Given the description of an element on the screen output the (x, y) to click on. 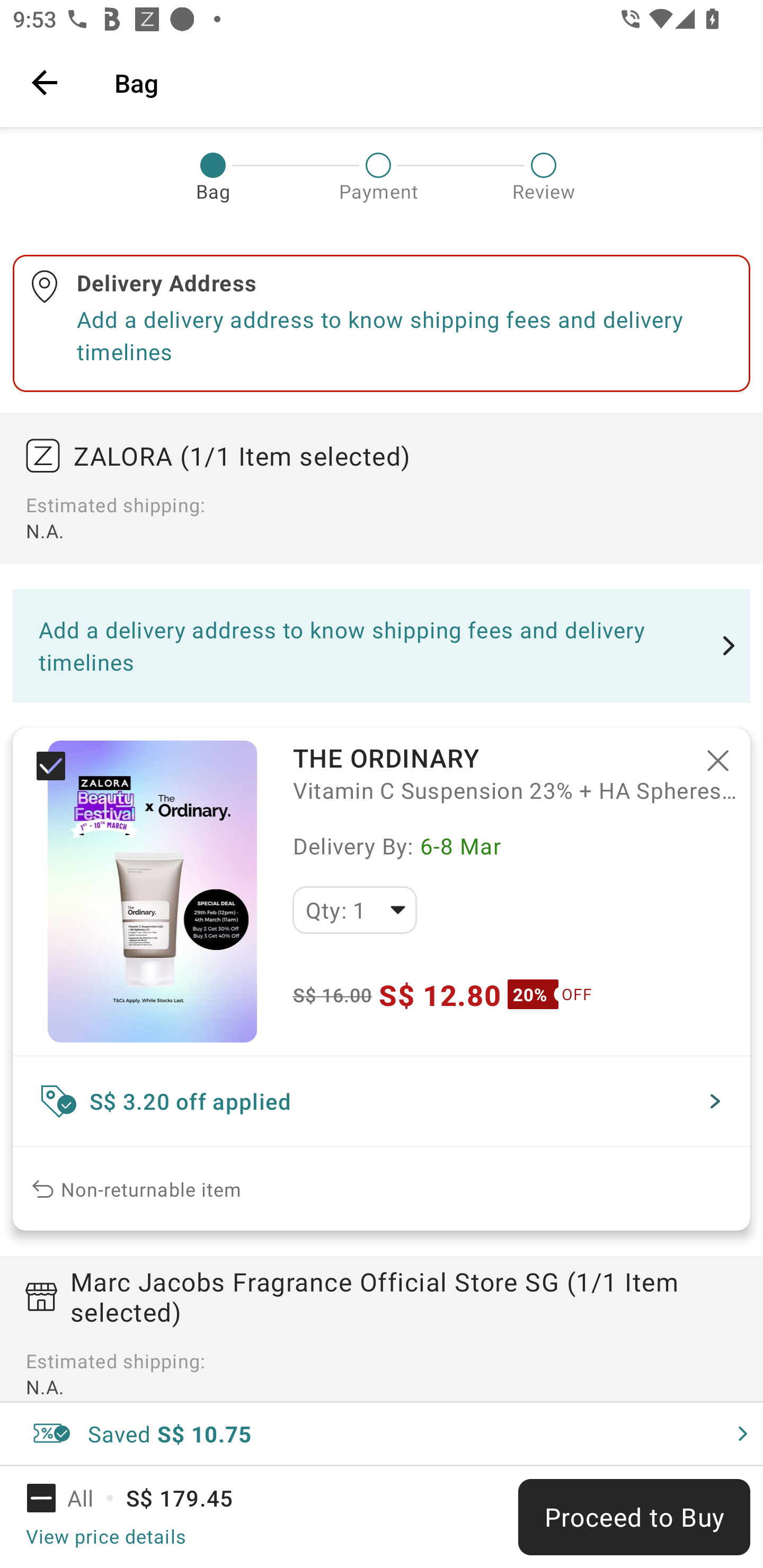
Navigate up (44, 82)
Bag (426, 82)
Qty: 1 (354, 909)
S$ 3.20 off applied (381, 1101)
Saved S$ 10.75 (381, 1433)
All (72, 1497)
Proceed to Buy (634, 1516)
View price details (105, 1535)
